Given the description of an element on the screen output the (x, y) to click on. 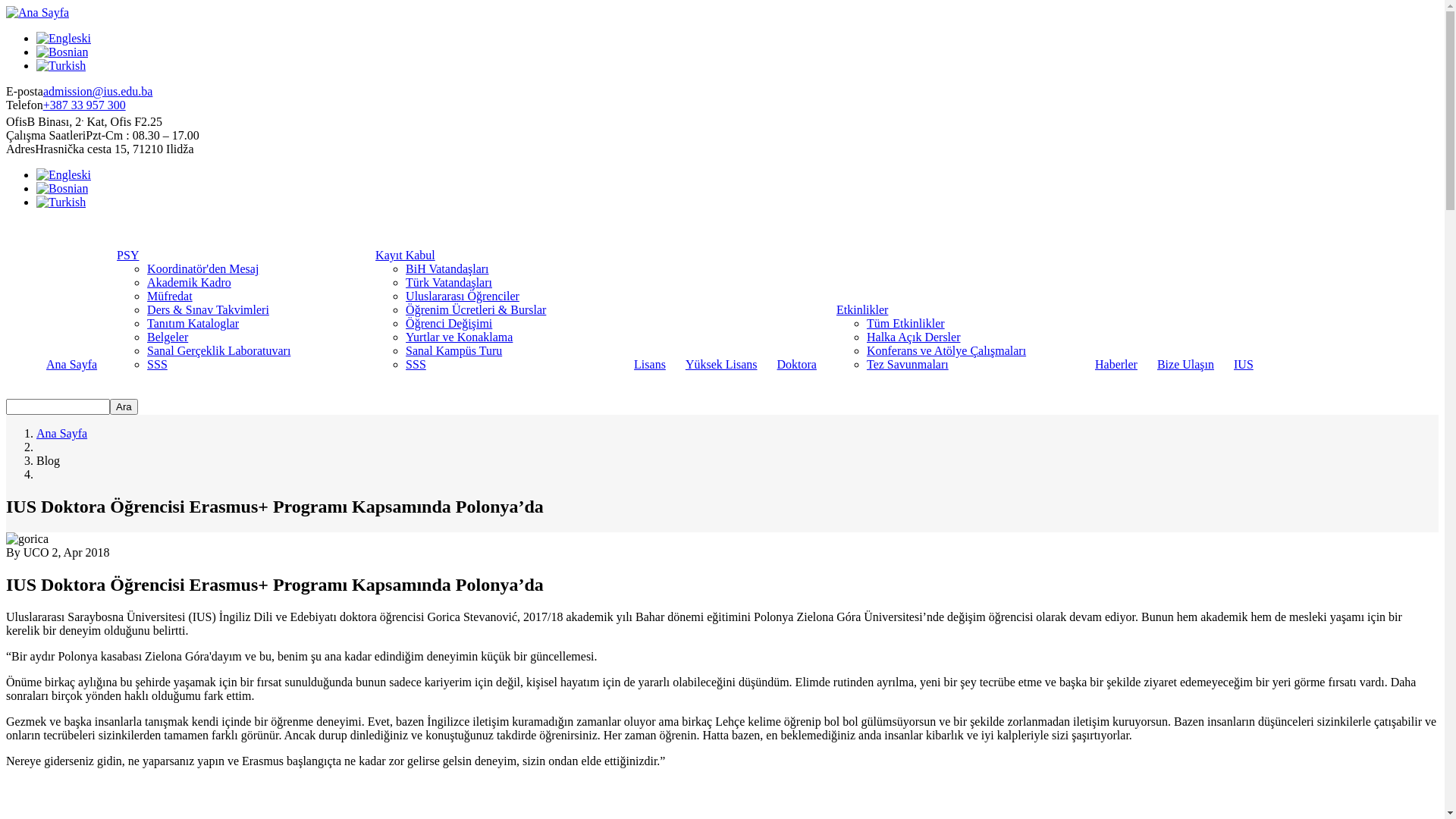
Turkish Element type: hover (60, 202)
Ara Element type: text (123, 406)
Ana Sayfa Element type: text (71, 363)
Etkinlikler Element type: text (862, 309)
SSS Element type: text (157, 363)
Doktora Element type: text (796, 363)
Akademik Kadro Element type: text (189, 282)
+387 33 957 300 Element type: text (84, 104)
Bosnian Element type: hover (61, 52)
Belgeler Element type: text (167, 336)
Ana Sayfa Element type: hover (37, 12)
Engleski Element type: hover (63, 38)
IUS Element type: text (1243, 363)
PSY Element type: text (127, 254)
Haberler Element type: text (1116, 363)
SSS Element type: text (415, 363)
Bosnian Element type: hover (61, 188)
Lisans Element type: text (649, 363)
admission@ius.edu.ba Element type: text (98, 90)
Engleski Element type: hover (63, 175)
Turkish Element type: hover (60, 65)
Ana Sayfa Element type: text (61, 432)
Yurtlar ve Konaklama Element type: text (458, 336)
